Given the description of an element on the screen output the (x, y) to click on. 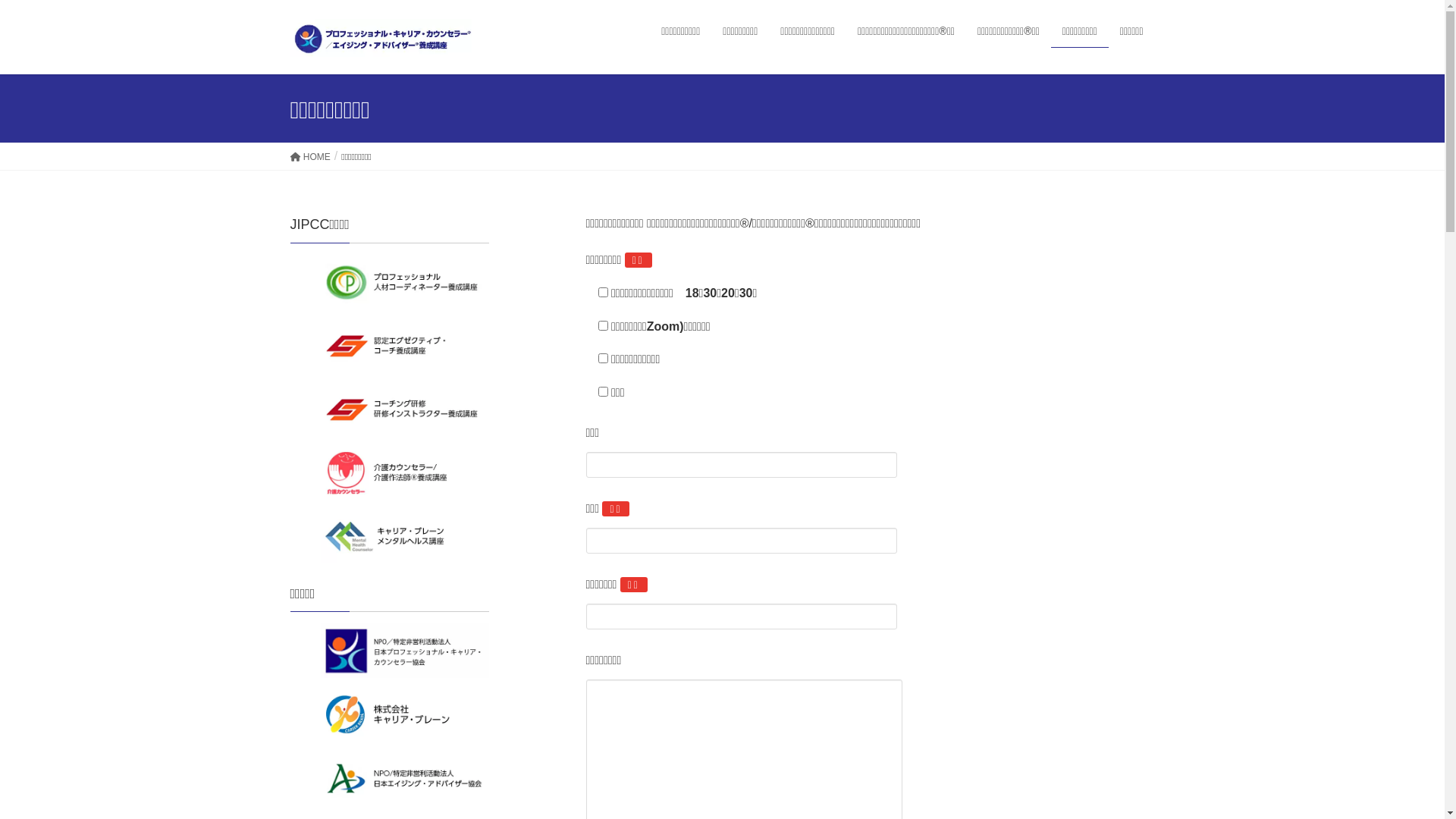
HOME Element type: text (309, 156)
